Given the description of an element on the screen output the (x, y) to click on. 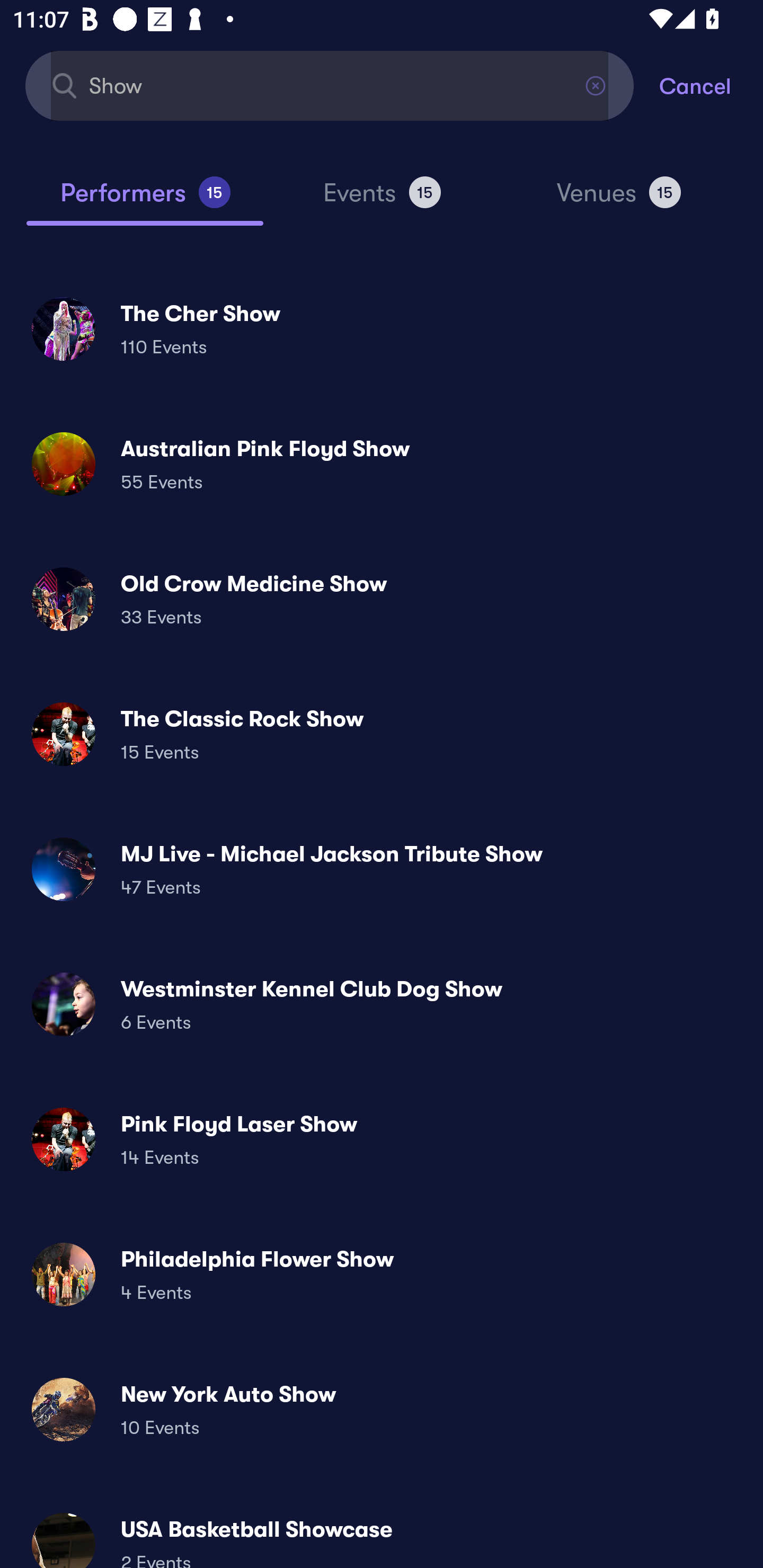
Show Find (329, 85)
Show Find (329, 85)
Cancel (711, 85)
Performers 15 (144, 200)
Events 15 (381, 200)
Venues 15 (618, 200)
The Cher Show 110 Events (381, 328)
Australian Pink Floyd Show 55 Events (381, 464)
Old Crow Medicine Show 33 Events (381, 598)
The Classic Rock Show 15 Events (381, 734)
MJ Live - Michael Jackson Tribute Show 47 Events (381, 869)
Westminster Kennel Club Dog Show 6 Events (381, 1004)
Pink Floyd Laser Show 14 Events (381, 1138)
Philadelphia Flower Show 4 Events (381, 1273)
New York Auto Show 10 Events (381, 1409)
USA Basketball Showcase 2 Events (381, 1532)
